Given the description of an element on the screen output the (x, y) to click on. 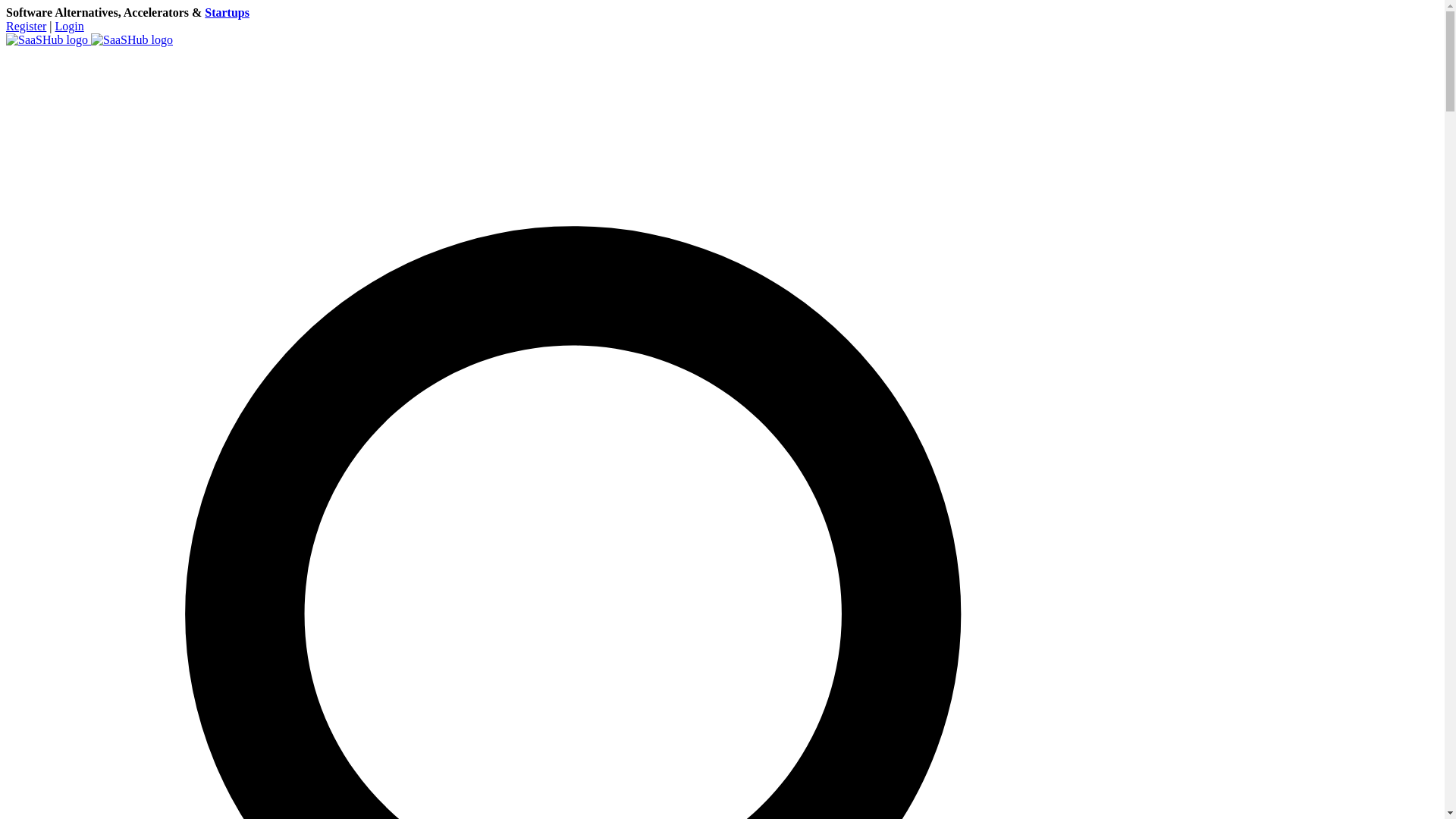
Register (25, 25)
Startups (226, 11)
Login (69, 25)
